Given the description of an element on the screen output the (x, y) to click on. 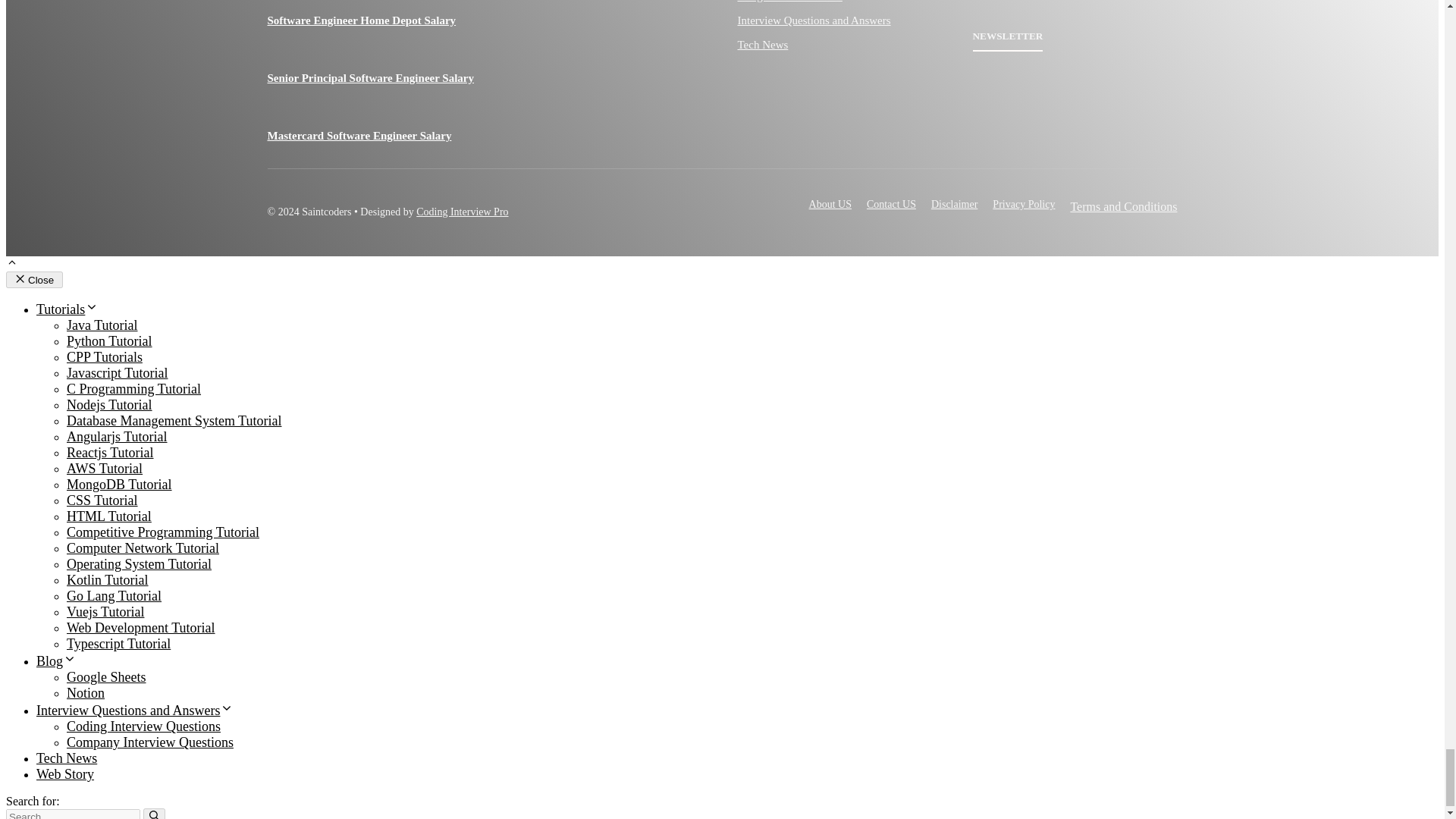
Software Engineer Home Depot Salary (431, 17)
Senior Principal Software Engineer Salary (431, 68)
Mastercard Software Engineer Salary (431, 126)
Scroll back to top (11, 264)
